Given the description of an element on the screen output the (x, y) to click on. 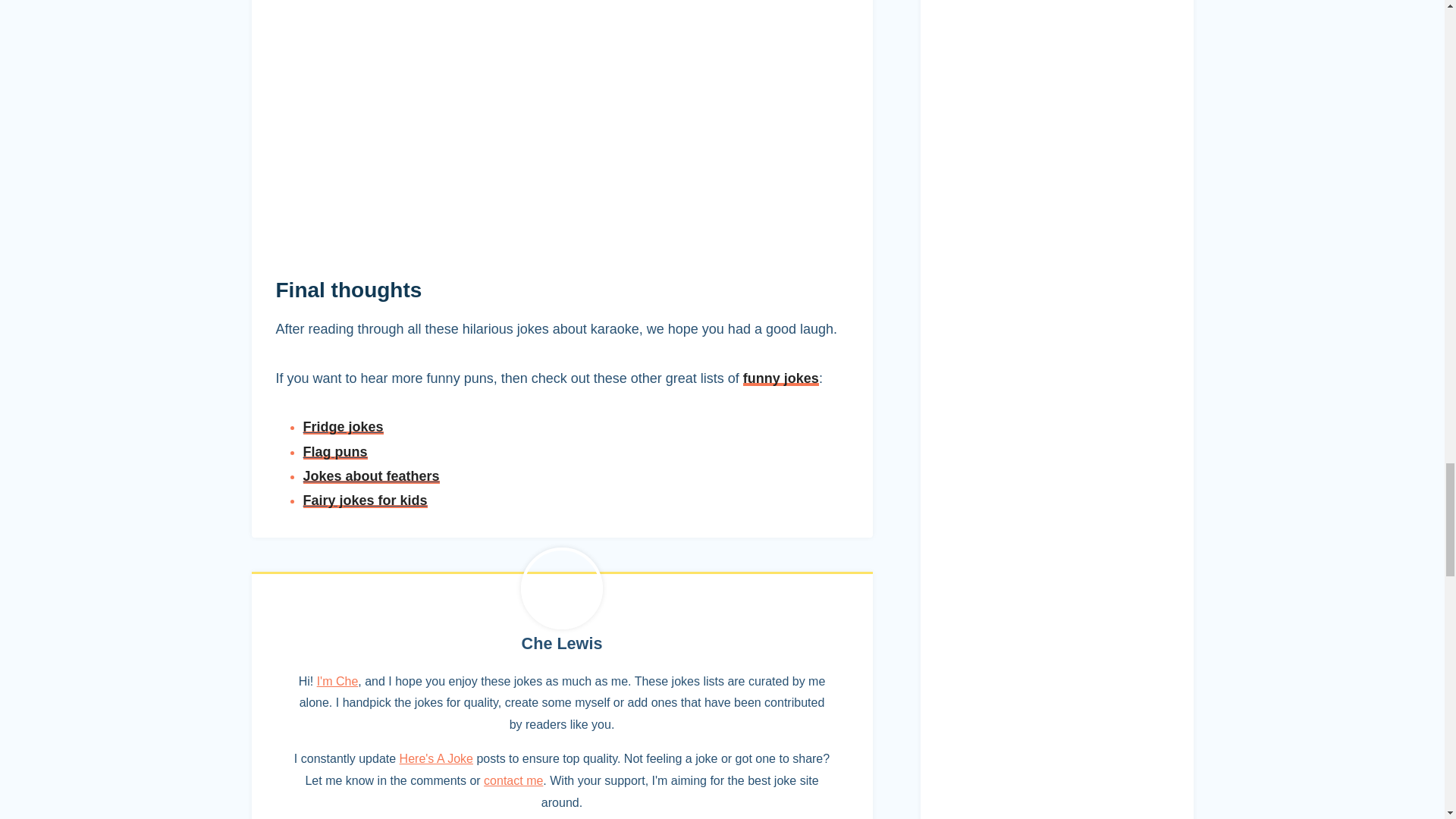
Flag puns (335, 451)
Fridge jokes (343, 426)
funny jokes (780, 378)
